Given the description of an element on the screen output the (x, y) to click on. 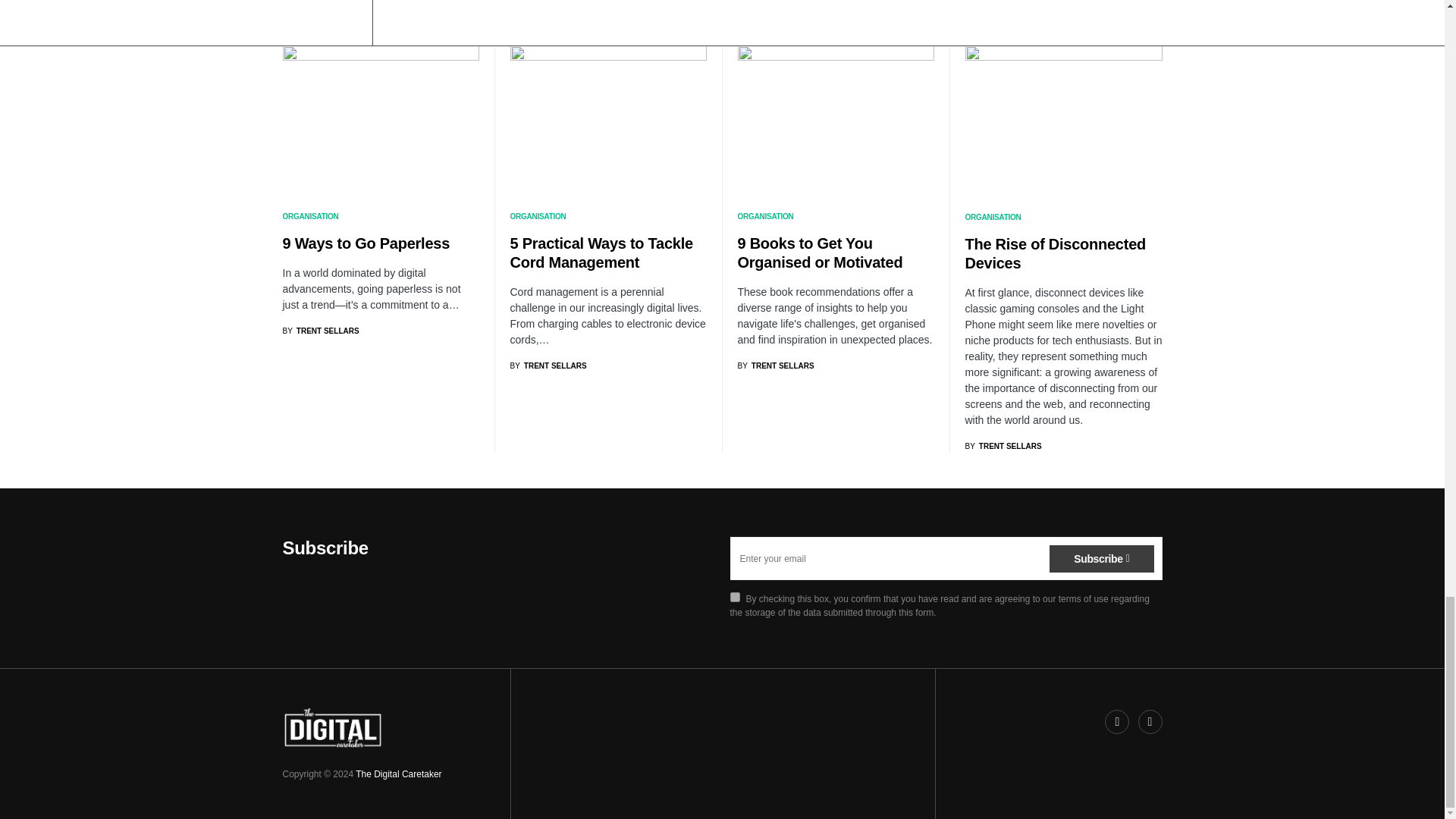
View all posts by Trent Sellars (1002, 446)
View all posts by Trent Sellars (320, 330)
on (734, 596)
View all posts by Trent Sellars (547, 365)
View all posts by Trent Sellars (774, 365)
